Given the description of an element on the screen output the (x, y) to click on. 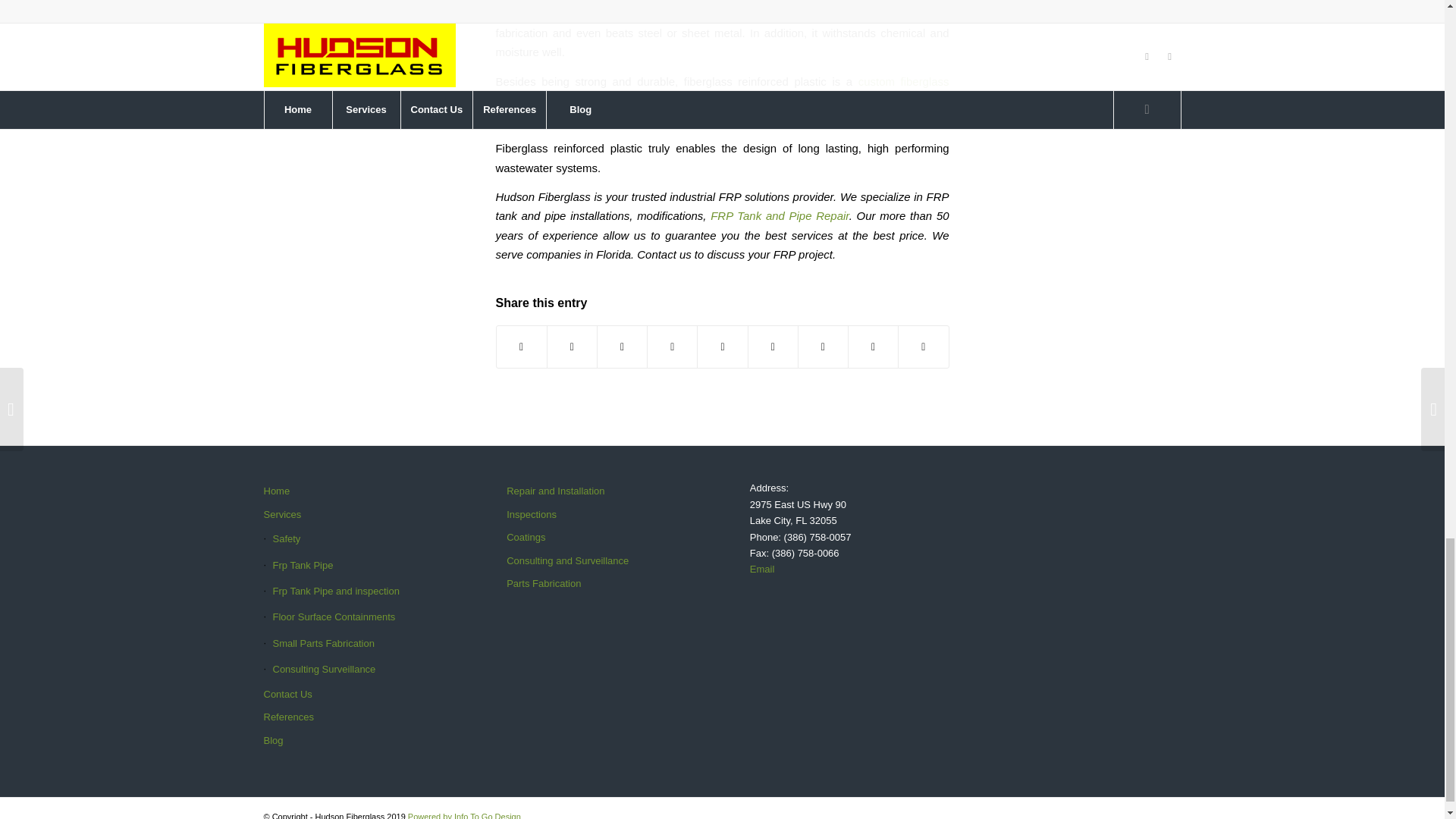
Home (357, 490)
Safety (357, 539)
Frp Tank Pipe (357, 565)
FRP Tank and Pipe Repair (779, 215)
Services (357, 514)
custom fiberglass work (722, 91)
Frp Tank Pipe and inspection (357, 591)
